Given the description of an element on the screen output the (x, y) to click on. 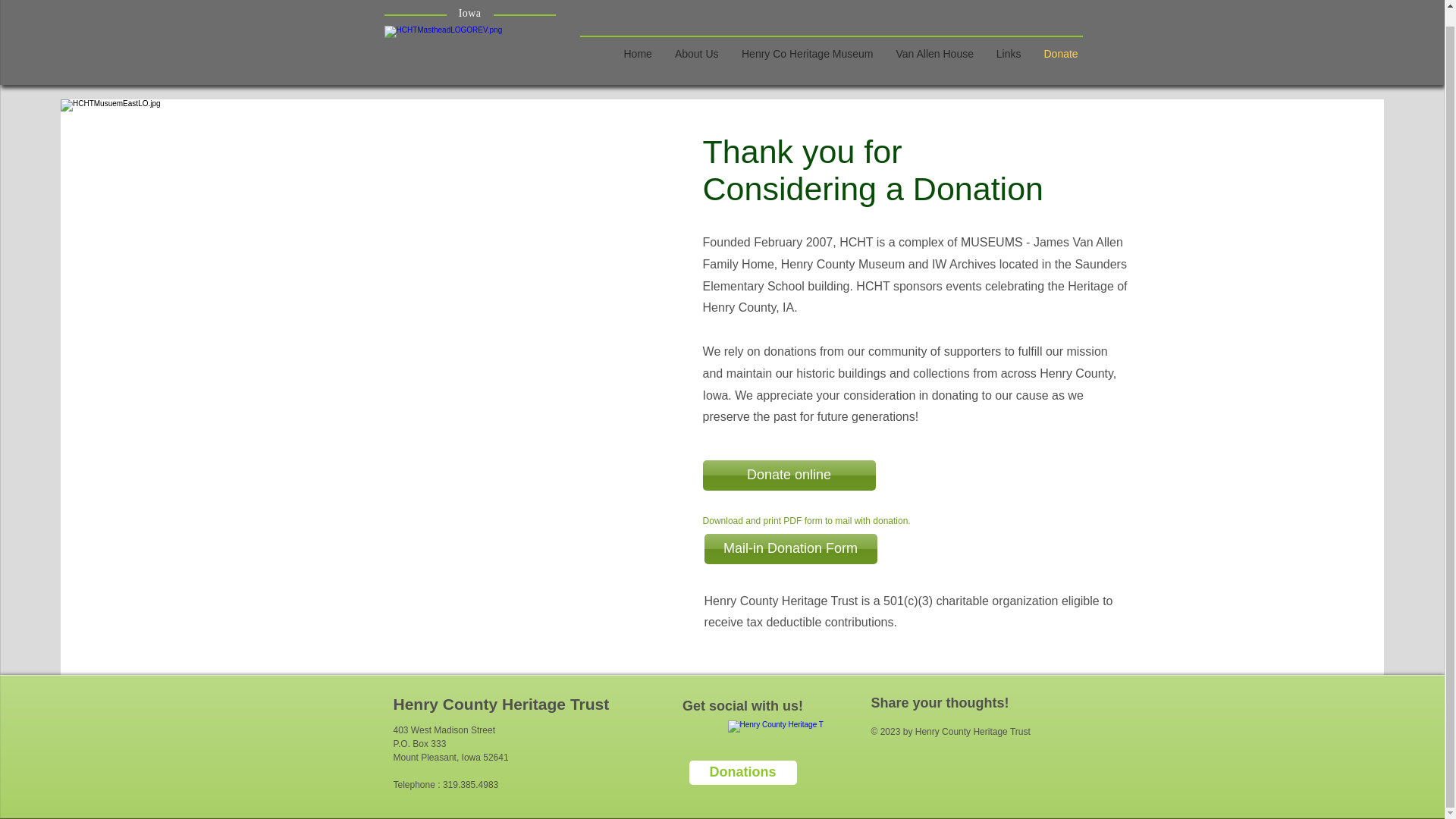
About Us (695, 38)
Donations (742, 772)
Van Allen House (933, 38)
Henry County Heritage Trust (500, 703)
Donate online (789, 475)
Henry Co Heritage Museum (806, 38)
Links (1008, 38)
Home (637, 38)
Donate (1060, 38)
Mail-in Donation Form (790, 548)
